Given the description of an element on the screen output the (x, y) to click on. 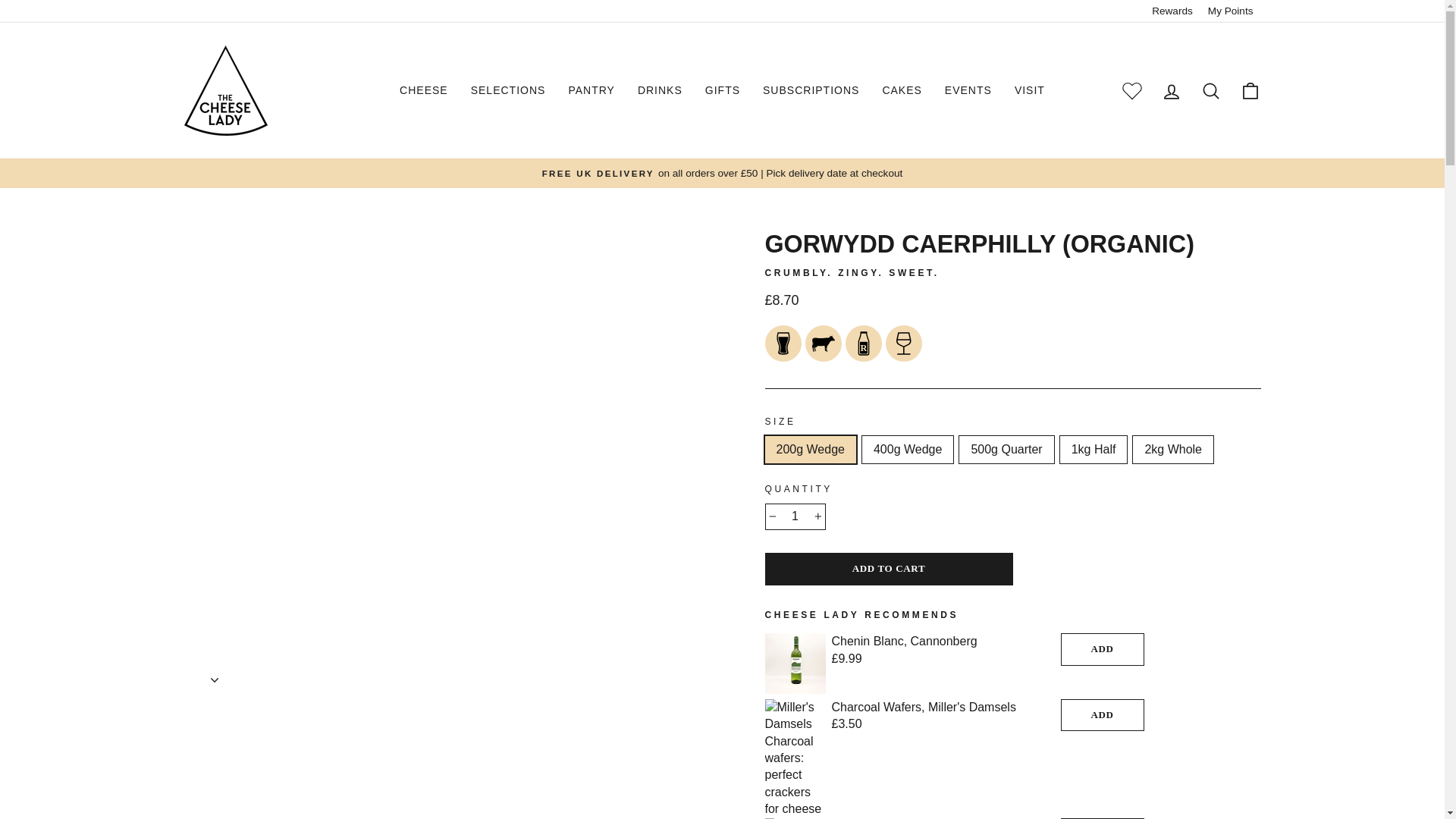
1 (794, 516)
R (864, 343)
